Given the description of an element on the screen output the (x, y) to click on. 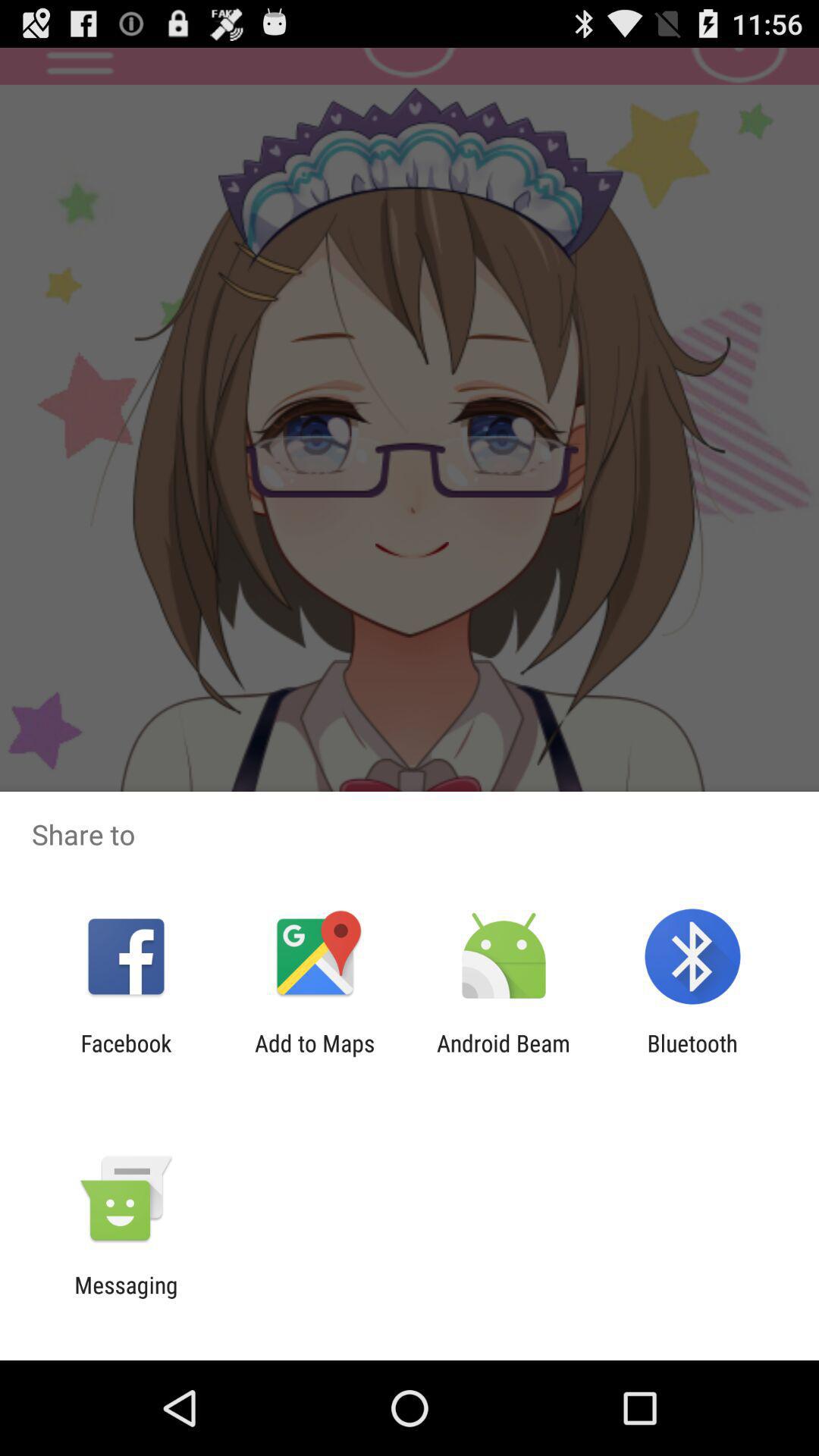
tap the app to the left of the bluetooth (503, 1056)
